Given the description of an element on the screen output the (x, y) to click on. 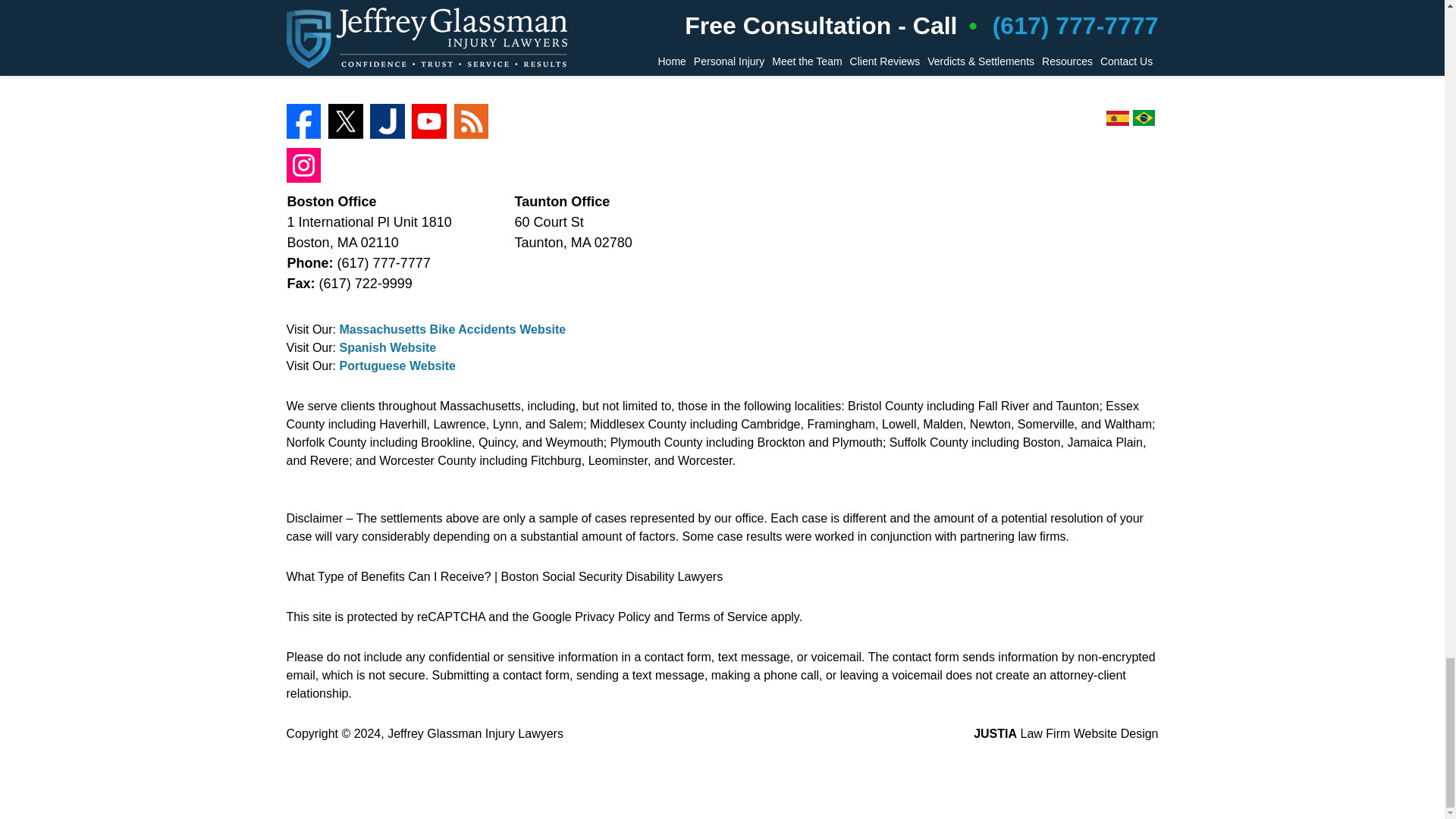
Facebook (303, 121)
Justia (386, 121)
YouTube (429, 121)
Twitter (345, 121)
Instagram (303, 165)
Feed (471, 121)
